Given the description of an element on the screen output the (x, y) to click on. 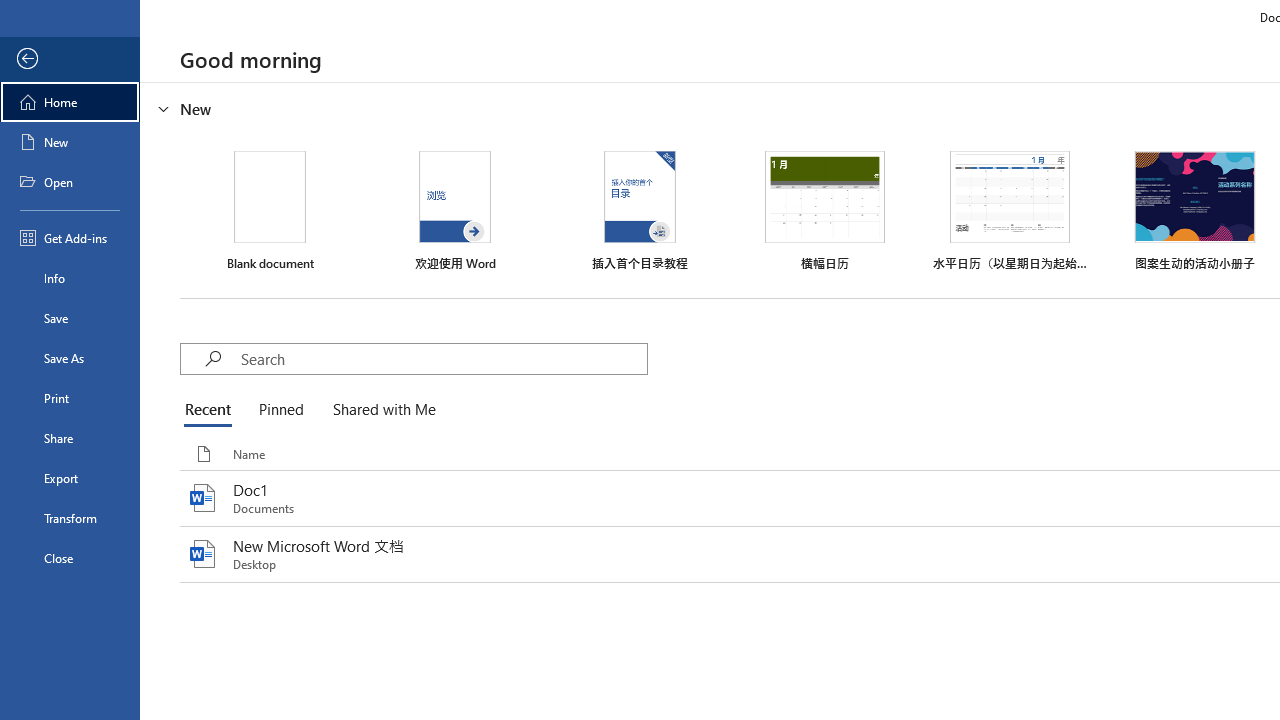
New (69, 141)
Transform (69, 517)
Pinned (280, 410)
Get Add-ins (69, 237)
Recent (212, 410)
Save (69, 317)
